Given the description of an element on the screen output the (x, y) to click on. 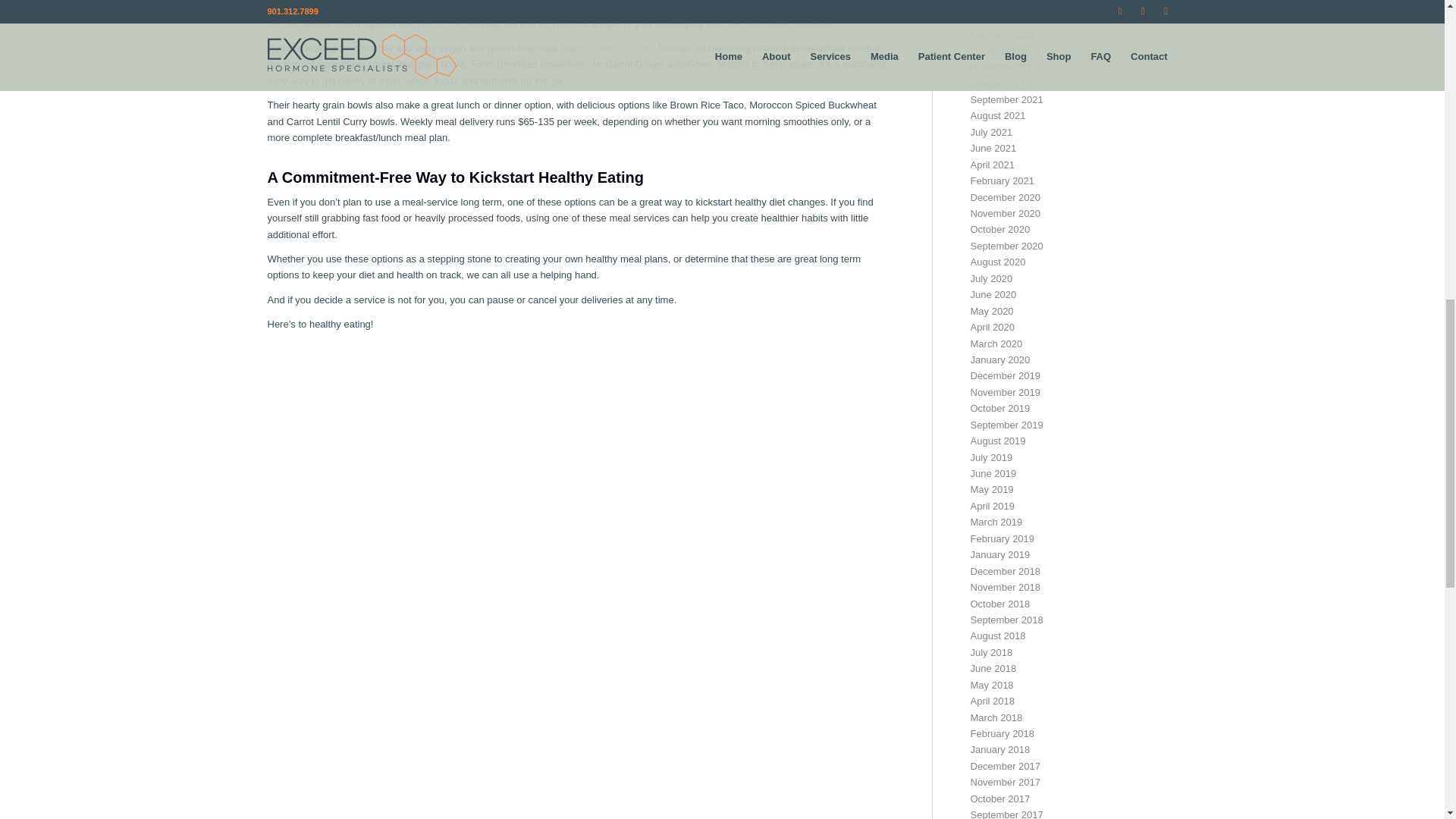
Splendid Spoon (620, 48)
